Given the description of an element on the screen output the (x, y) to click on. 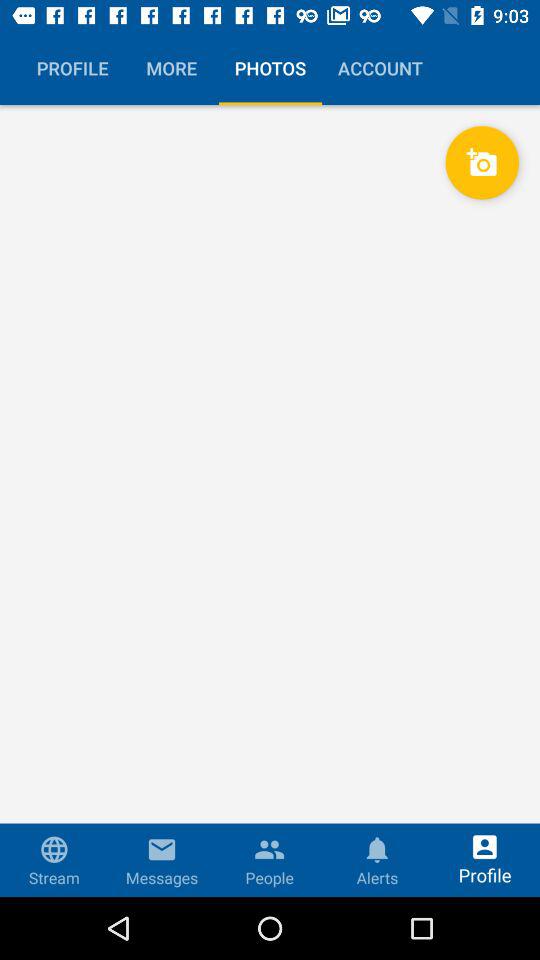
click on the camera button (482, 162)
click on the button beside more (270, 67)
click on the second button from the left (171, 67)
click on the profile at right sidelast bottom (484, 859)
select the icon above the people button on the web page (269, 844)
select the second button in the bottom menu bar (162, 859)
select the last but one button in the bottom menu bar (377, 844)
